Given the description of an element on the screen output the (x, y) to click on. 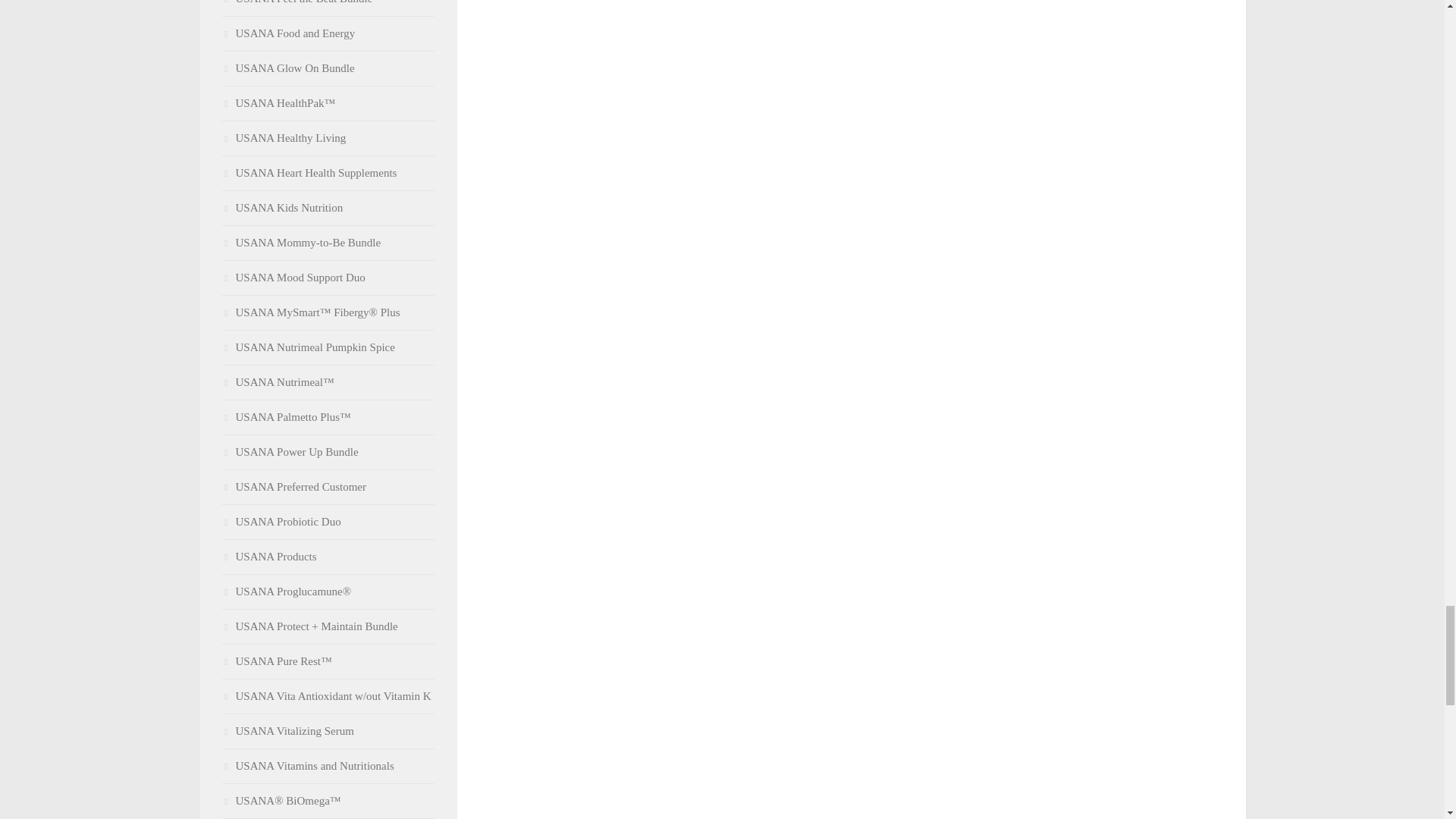
USANA Healthy Living (283, 137)
USANA Food and Energy (288, 33)
